Given the description of an element on the screen output the (x, y) to click on. 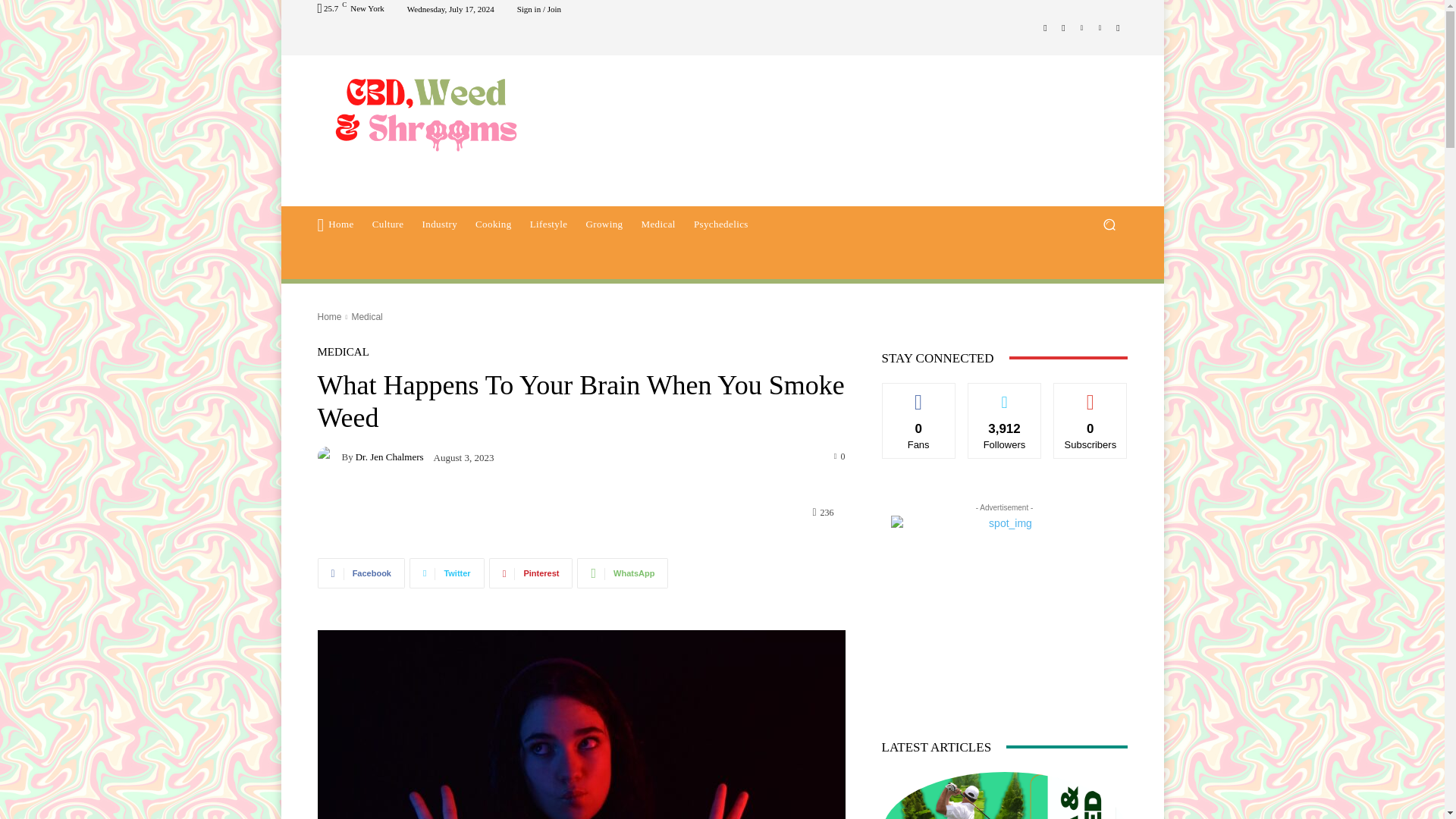
Facebook (360, 572)
Youtube (1117, 27)
Instagram (1062, 27)
Lifestyle (548, 224)
Vimeo (1099, 27)
CBD, Weed, and Shrooms logo (425, 112)
Cooking (493, 224)
Medical (657, 224)
Culture (387, 224)
View all posts in Medical (365, 317)
Dr. Jen Chalmers (328, 456)
Home (328, 317)
Growing (603, 224)
Facebook (1044, 27)
Psychedelics (720, 224)
